Given the description of an element on the screen output the (x, y) to click on. 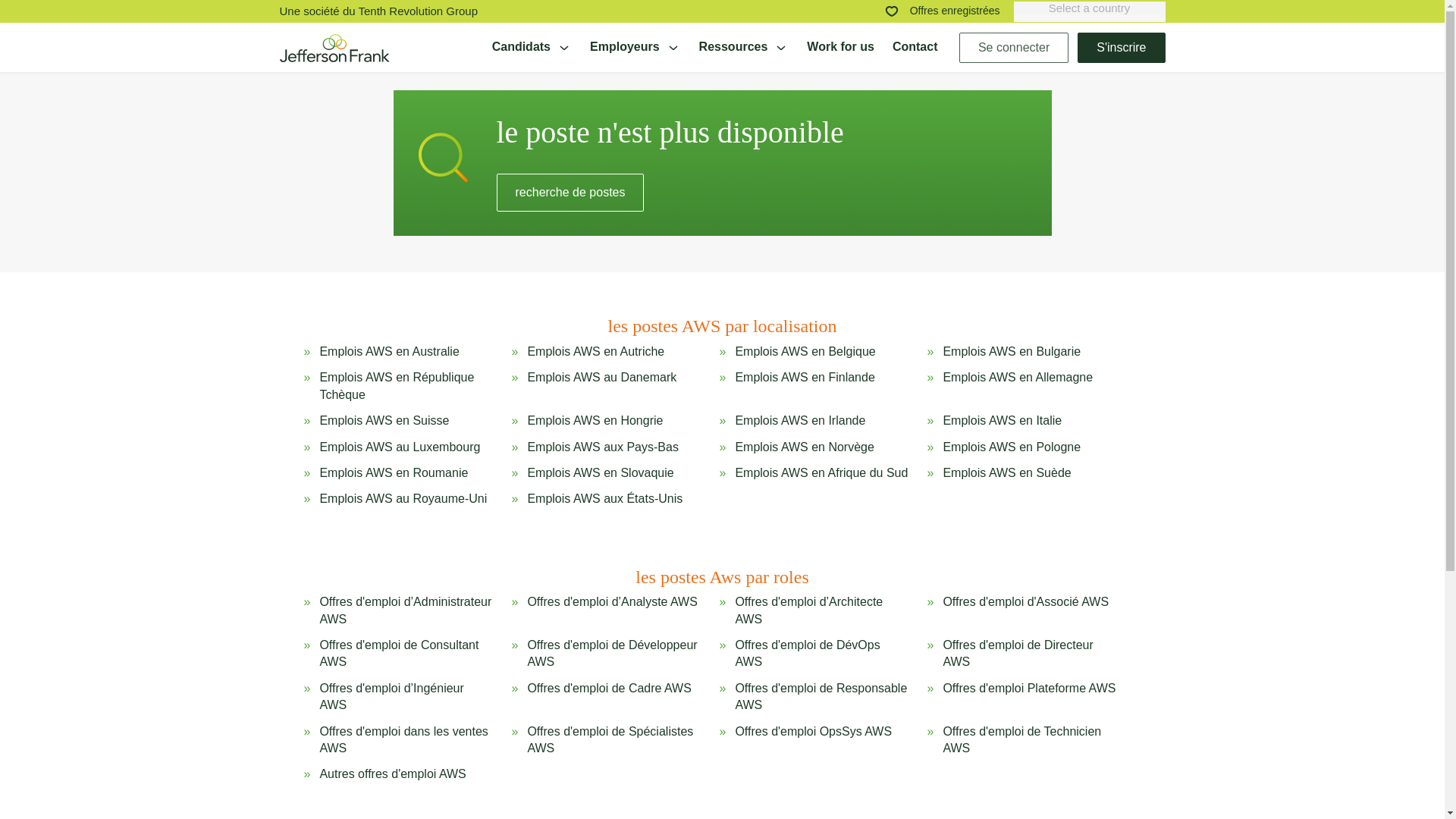
Jefferson Frank (333, 47)
Emplois AWS en Belgique (805, 351)
Se connecter (1013, 46)
Emplois AWS en Finlande (805, 386)
Work for us (840, 47)
Emplois AWS en Autriche (595, 351)
Emplois AWS en Australie (388, 351)
Emplois AWS en Italie (1001, 420)
Candidats (532, 47)
Jefferson Frank (333, 47)
recherche de postes (569, 192)
Emplois AWS au Danemark (602, 386)
Ressources (743, 47)
Employeurs (635, 47)
Emplois AWS au Luxembourg (399, 446)
